Given the description of an element on the screen output the (x, y) to click on. 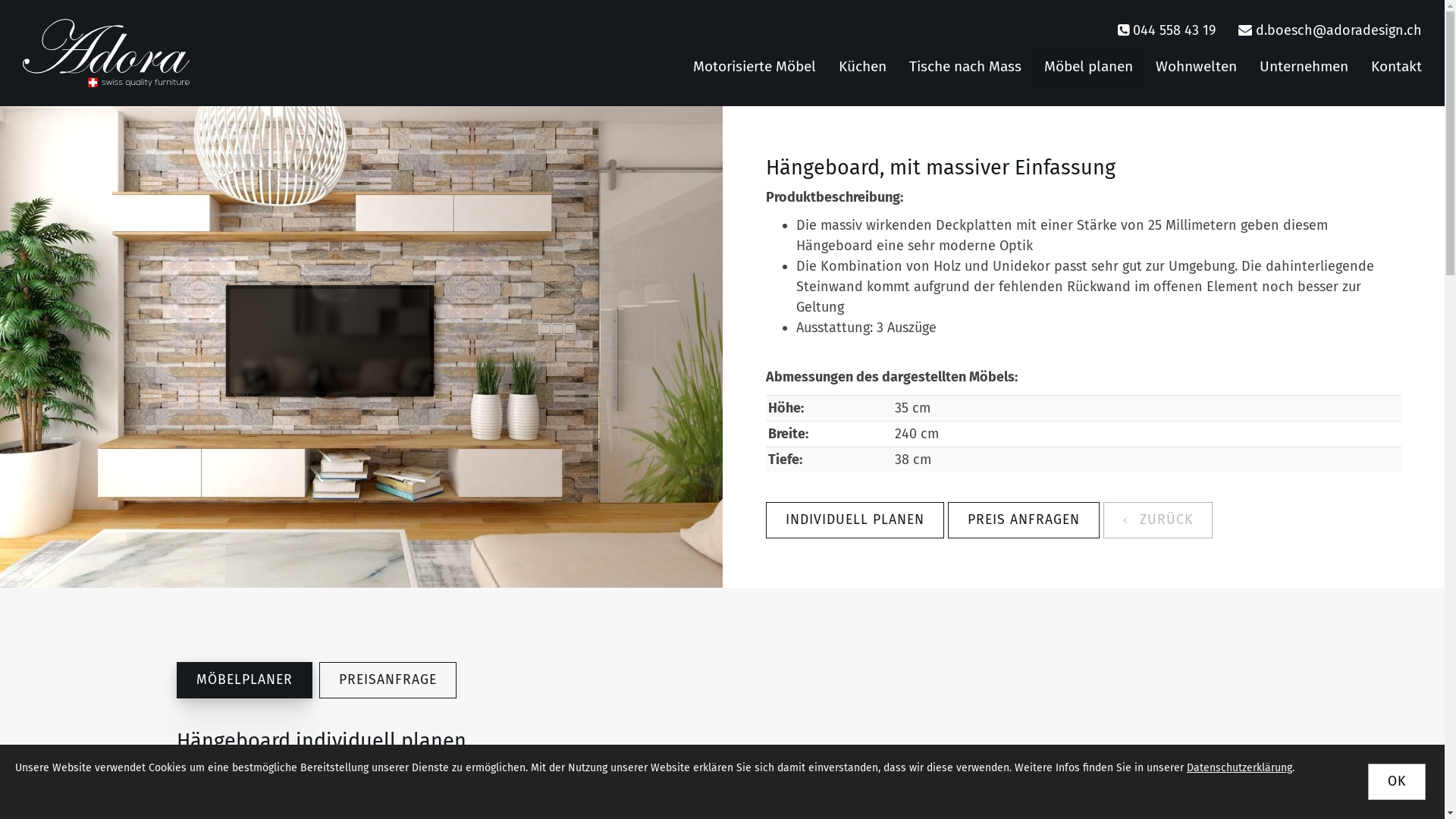
OK Element type: text (1396, 781)
PREIS ANFRAGEN Element type: text (1023, 520)
PREISANFRAGE Element type: text (386, 680)
INDIVIDUELL PLANEN Element type: text (854, 520)
Unternehmen Element type: text (1303, 66)
044 558 43 19 Element type: text (1173, 29)
Tische nach Mass Element type: text (964, 66)
Kontakt Element type: text (1396, 66)
Wohnwelten Element type: text (1196, 66)
d.boesch@adoradesign.ch Element type: text (1338, 29)
